Given the description of an element on the screen output the (x, y) to click on. 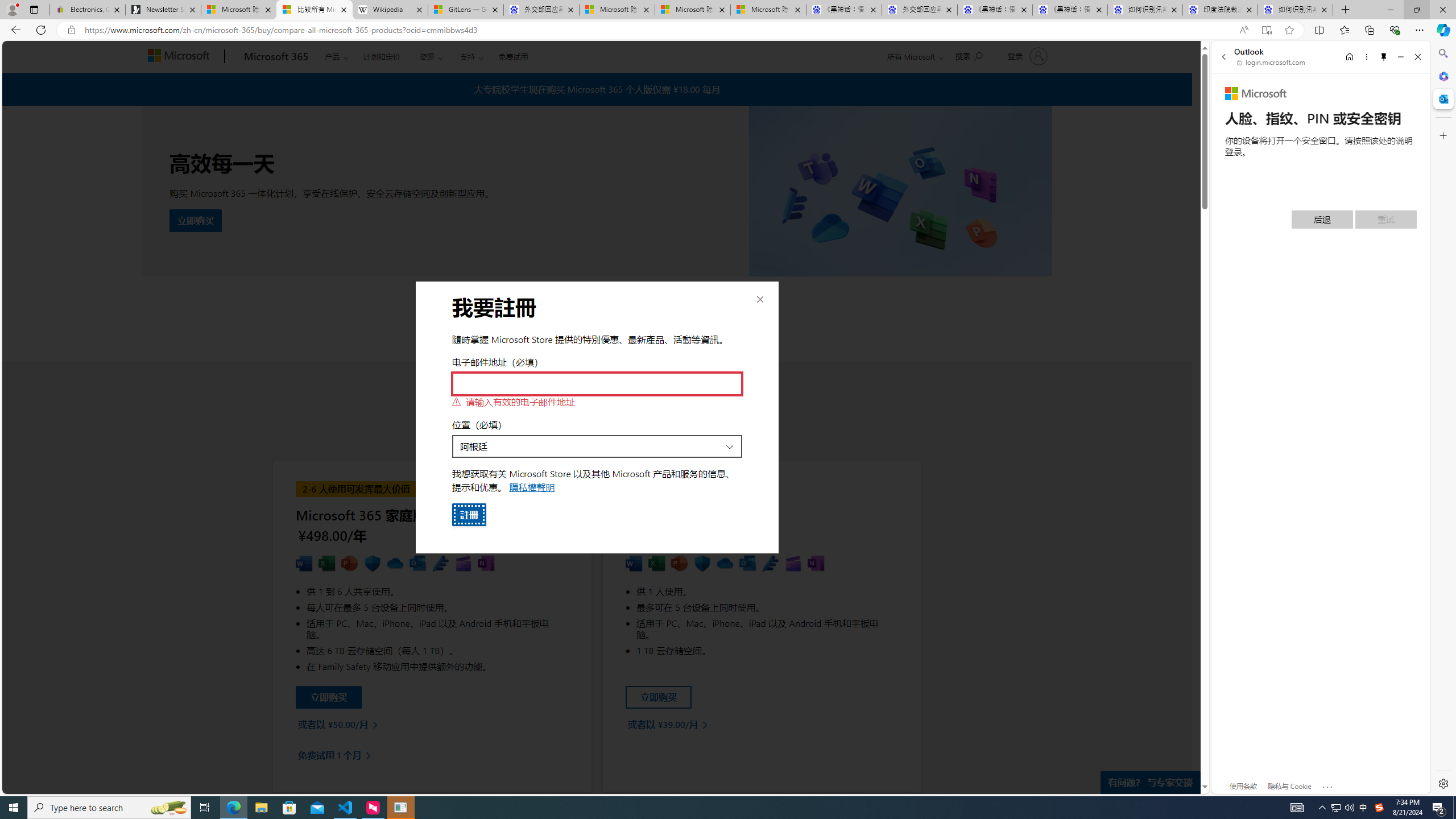
Microsoft (1255, 93)
